Given the description of an element on the screen output the (x, y) to click on. 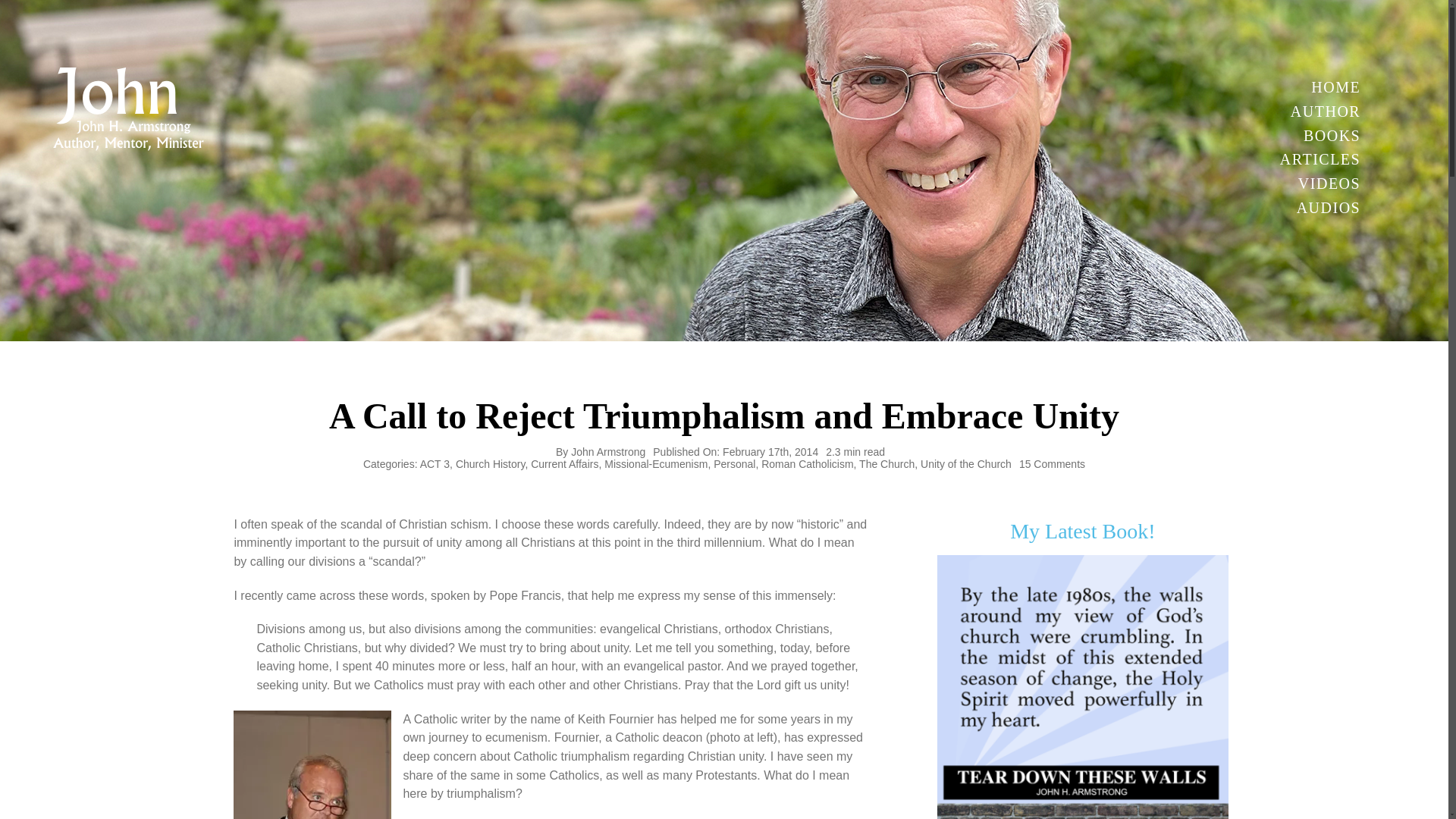
BOOKS (1317, 136)
Posts by John Armstrong (607, 451)
By the A-1 (1082, 687)
HOME (1317, 87)
Current Affairs (564, 463)
Church History (490, 463)
VIDEOS (1317, 183)
ACT 3 (434, 463)
The Church (886, 463)
AUTHOR (1317, 111)
Roman Catholicism (807, 463)
AUDIOS (1317, 208)
Personal (734, 463)
Unity of the Church (965, 463)
